Given the description of an element on the screen output the (x, y) to click on. 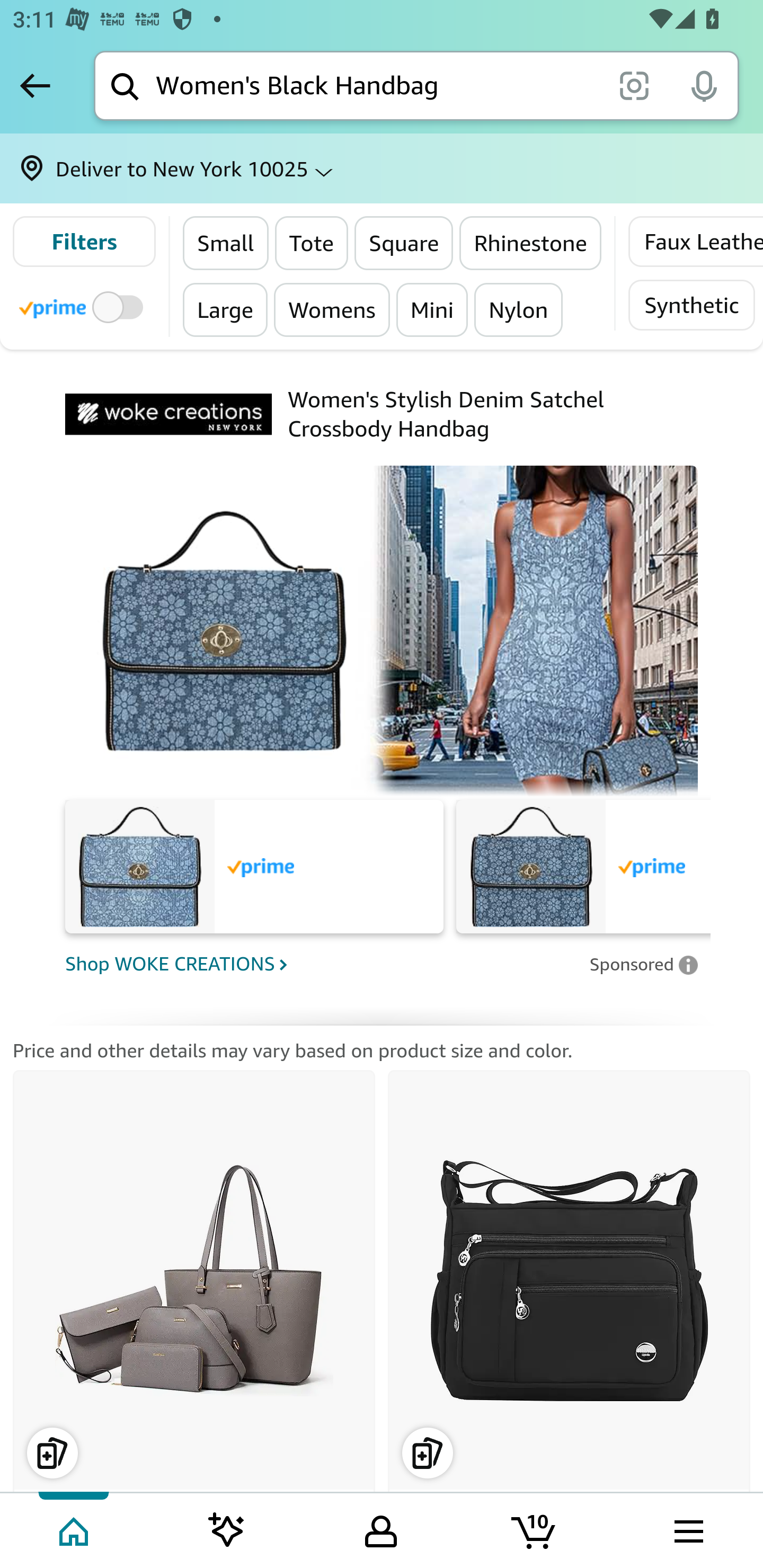
Back (35, 85)
scan it (633, 85)
Deliver to New York 10025 ⌵ (381, 168)
Filters (83, 241)
Small (225, 242)
Tote (310, 242)
Square (404, 242)
Rhinestone (530, 242)
Faux Leather (695, 241)
Toggle to filter by Prime products Prime Eligible (83, 306)
Synthetic (691, 304)
Large (225, 309)
Womens (331, 309)
Mini (432, 309)
Nylon (518, 309)
Shop WOKE CREATIONS Shop WOKE  CREATIONS  (321, 963)
Leave feedback on Sponsored ad (643, 964)
Home Tab 1 of 5 (75, 1529)
Inspire feed Tab 2 of 5 (227, 1529)
Your Amazon.com Tab 3 of 5 (380, 1529)
Cart 10 items Tab 4 of 5 10 (534, 1529)
Browse menu Tab 5 of 5 (687, 1529)
